Given the description of an element on the screen output the (x, y) to click on. 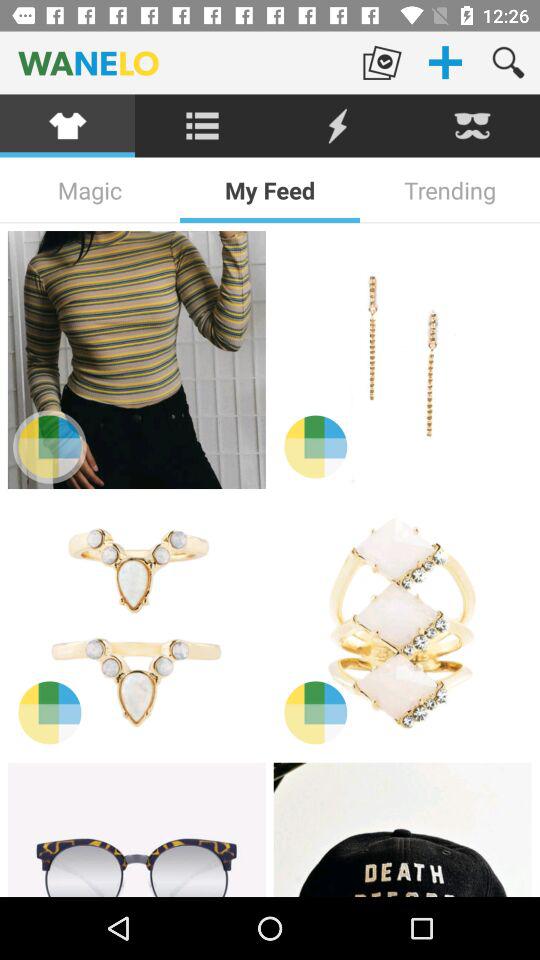
scroll to magic item (90, 190)
